Given the description of an element on the screen output the (x, y) to click on. 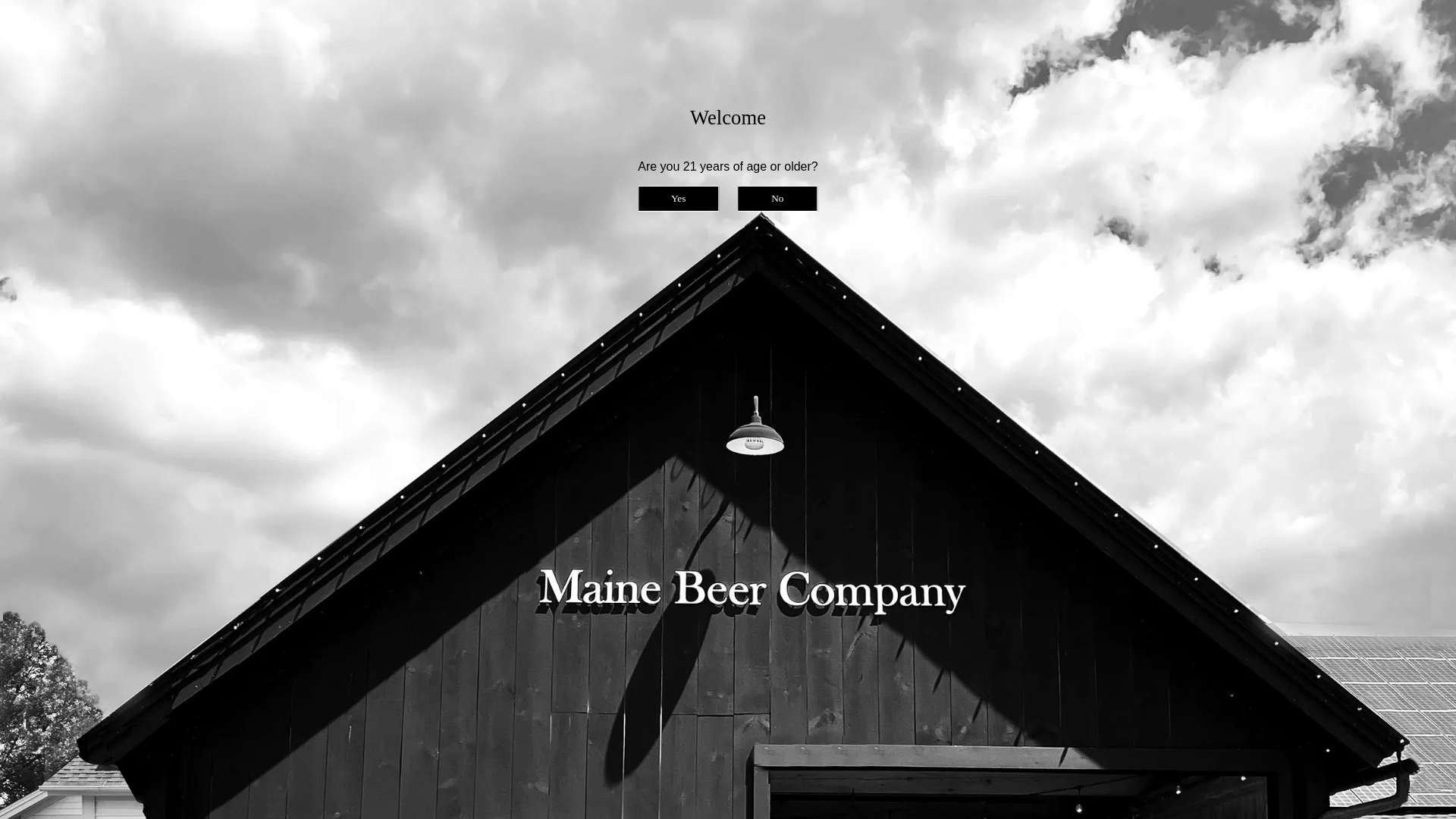
PURCHASE TICKETS (365, 493)
Calendar (314, 206)
Employment (987, 156)
Visit Us (255, 206)
No (777, 198)
Merch (1123, 156)
Tasting Room (657, 156)
Our Story (638, 716)
About Our Beer (508, 156)
